Given the description of an element on the screen output the (x, y) to click on. 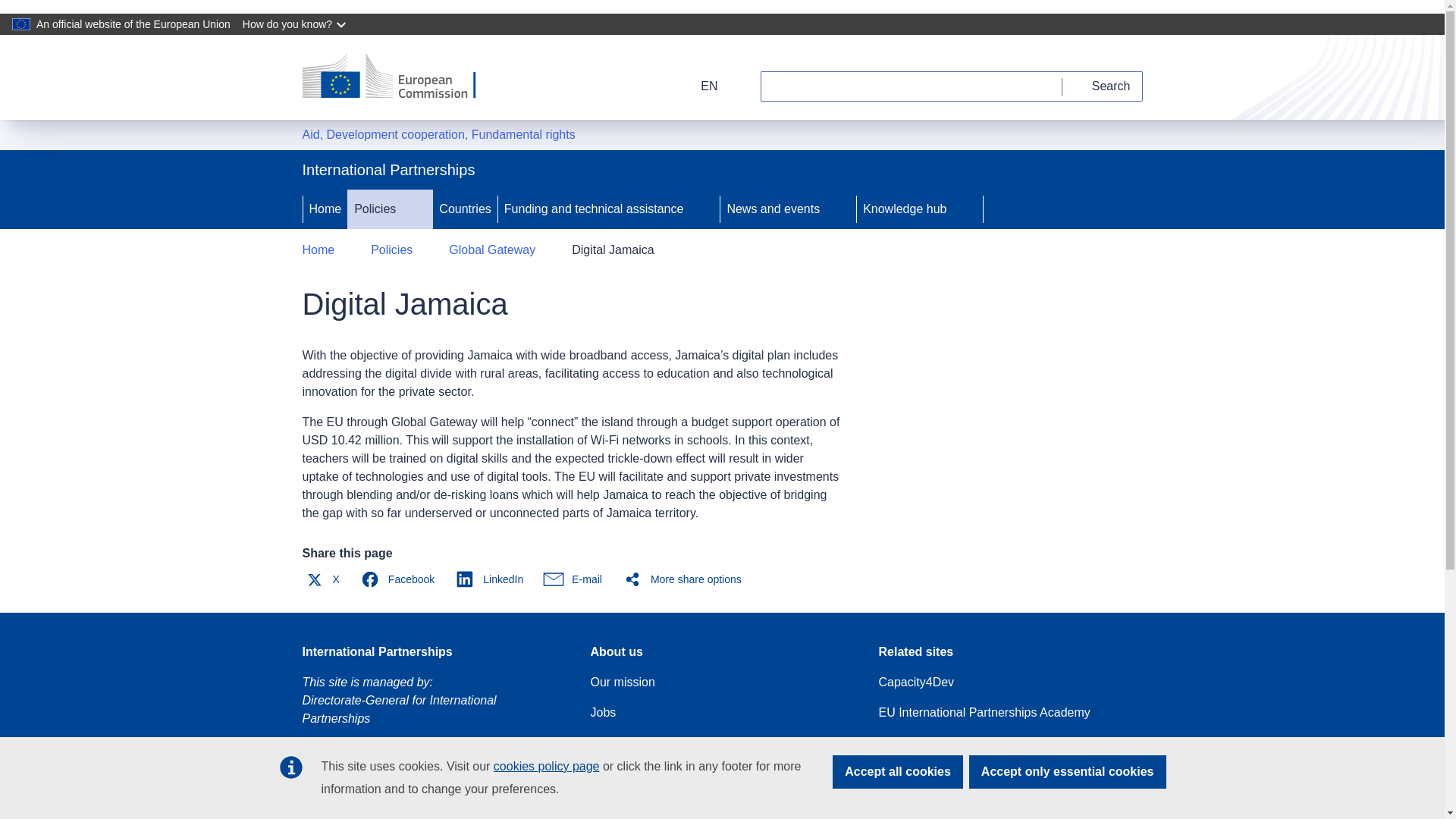
Funding and technical assistance (592, 209)
Accept only essential cookies (1067, 771)
How do you know? (295, 24)
cookies policy page (546, 766)
EN (699, 86)
Accept all cookies (897, 771)
Countries (464, 209)
European Commission (399, 77)
Search (1102, 86)
Home (324, 209)
Aid, Development cooperation, Fundamental rights (438, 134)
News and events (771, 209)
Policies (372, 209)
